Given the description of an element on the screen output the (x, y) to click on. 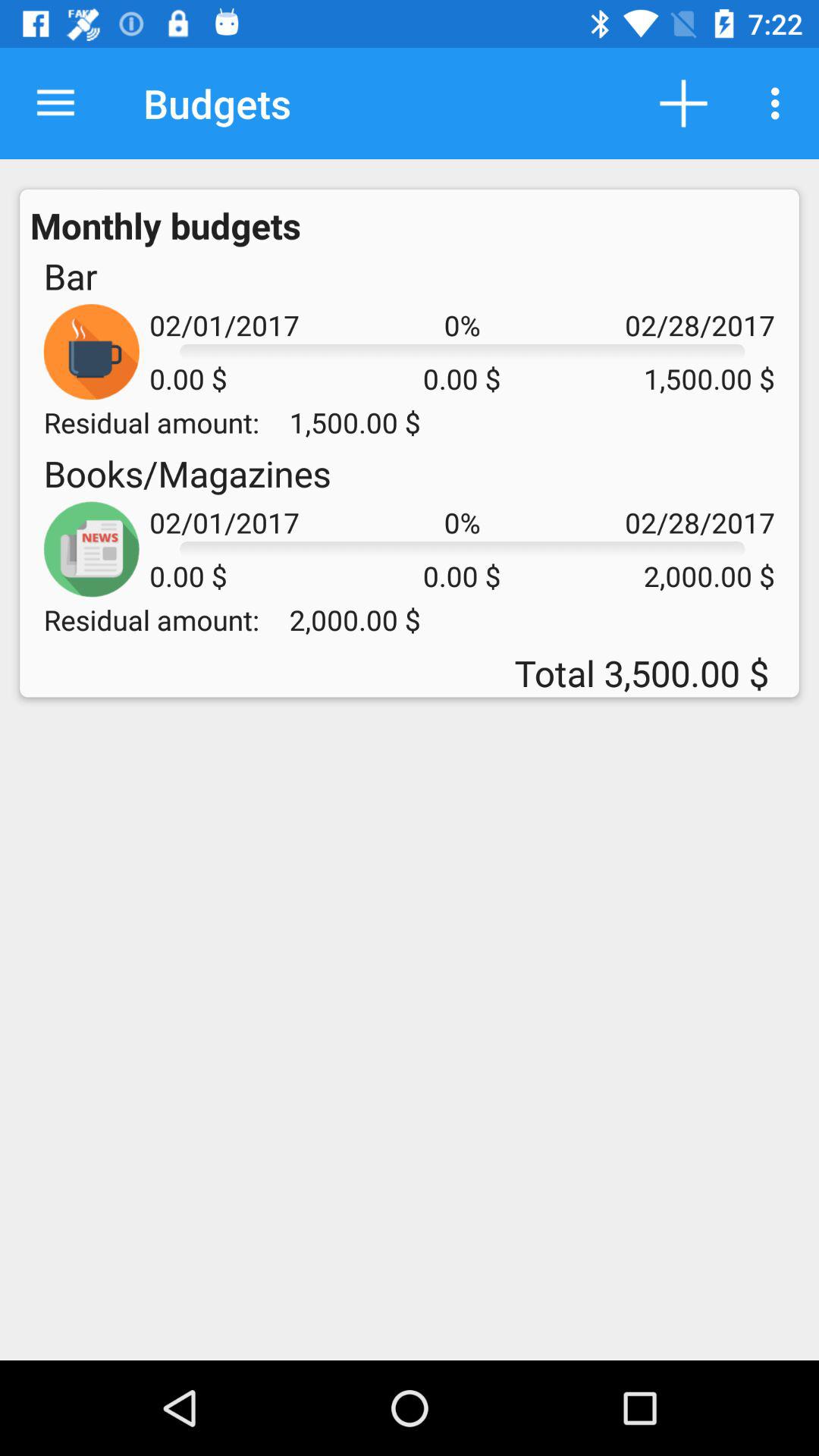
launch the monthly budgets (165, 225)
